Given the description of an element on the screen output the (x, y) to click on. 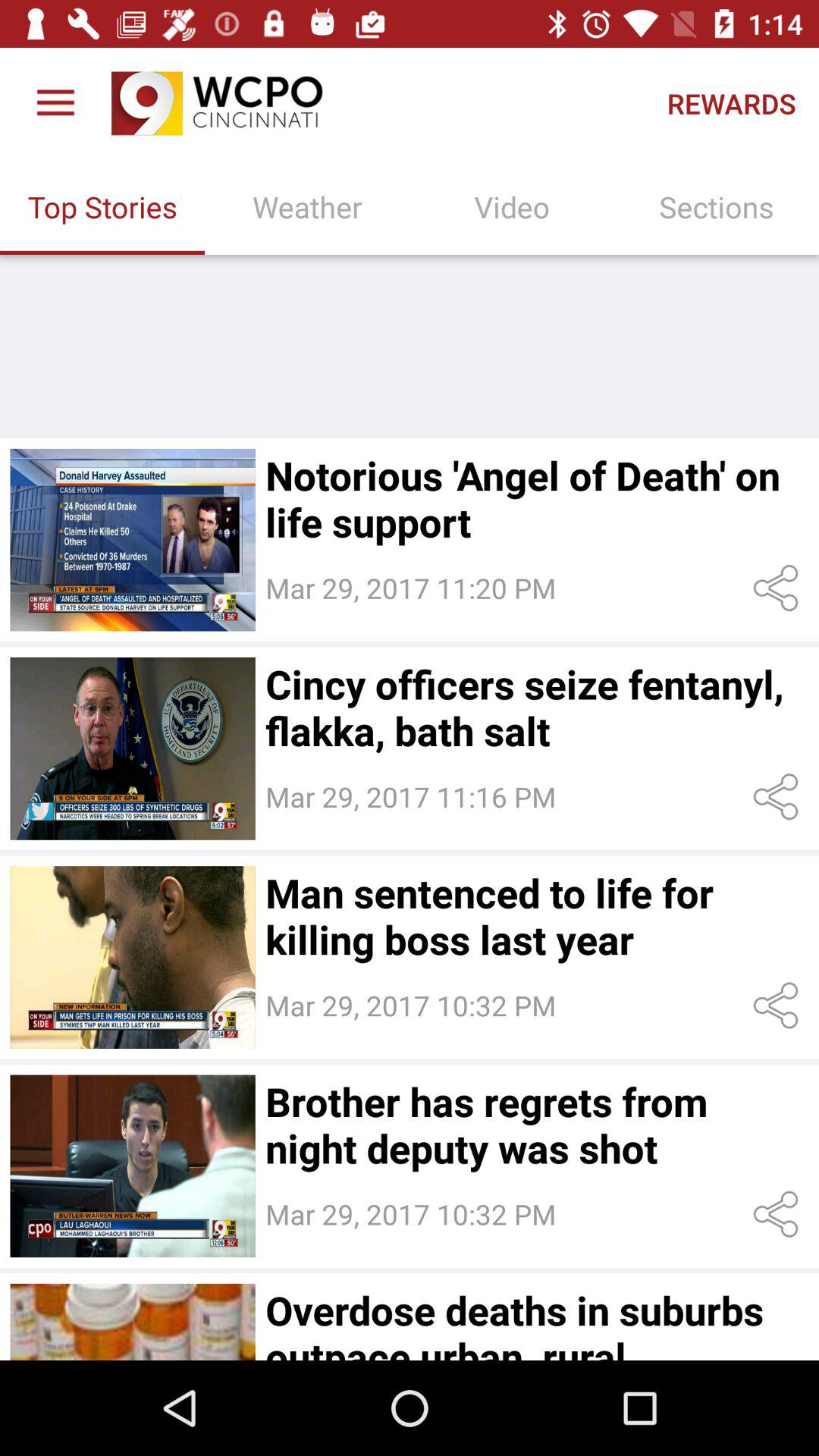
get the news (132, 539)
